Given the description of an element on the screen output the (x, y) to click on. 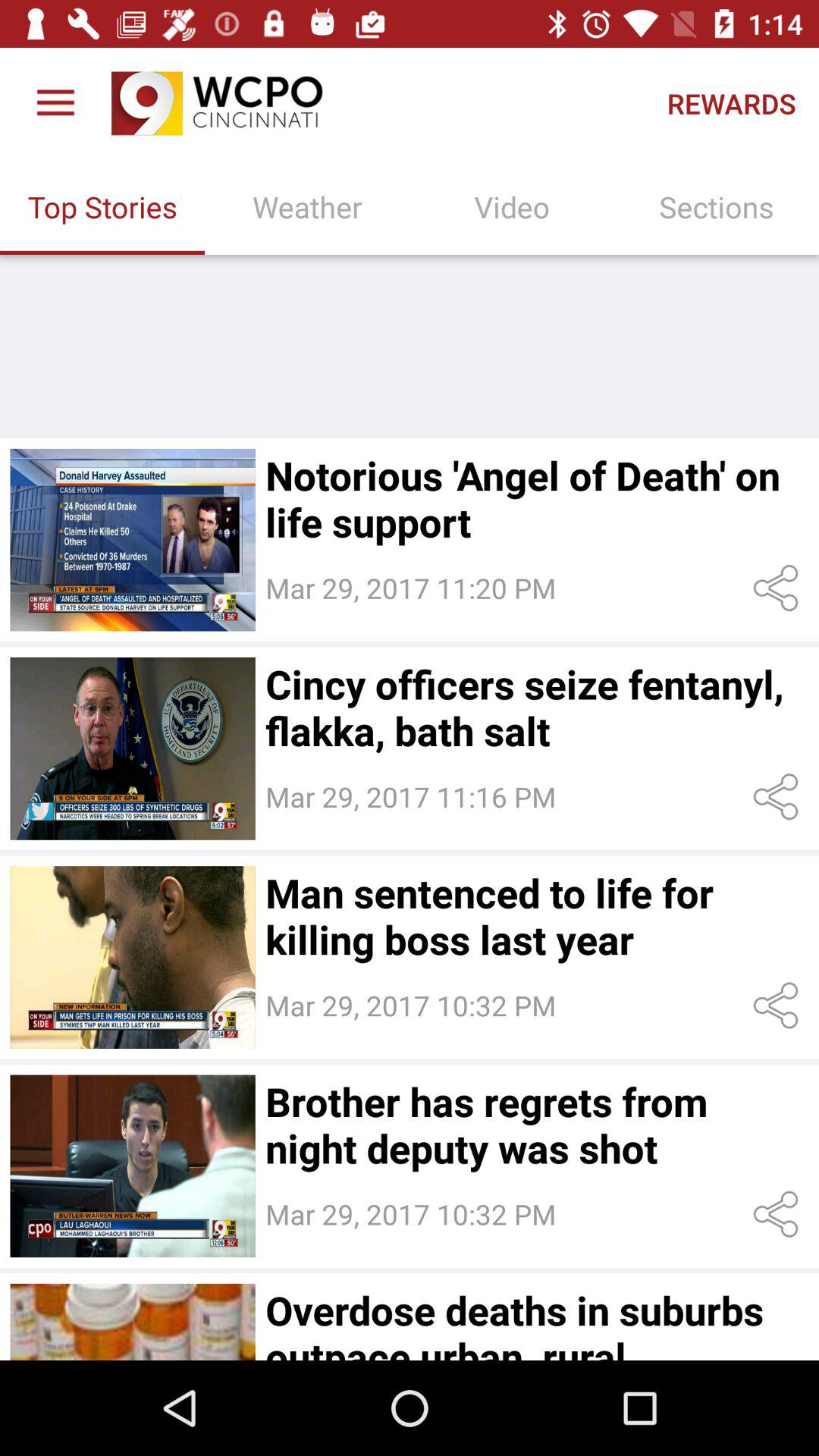
get the news (132, 539)
